Given the description of an element on the screen output the (x, y) to click on. 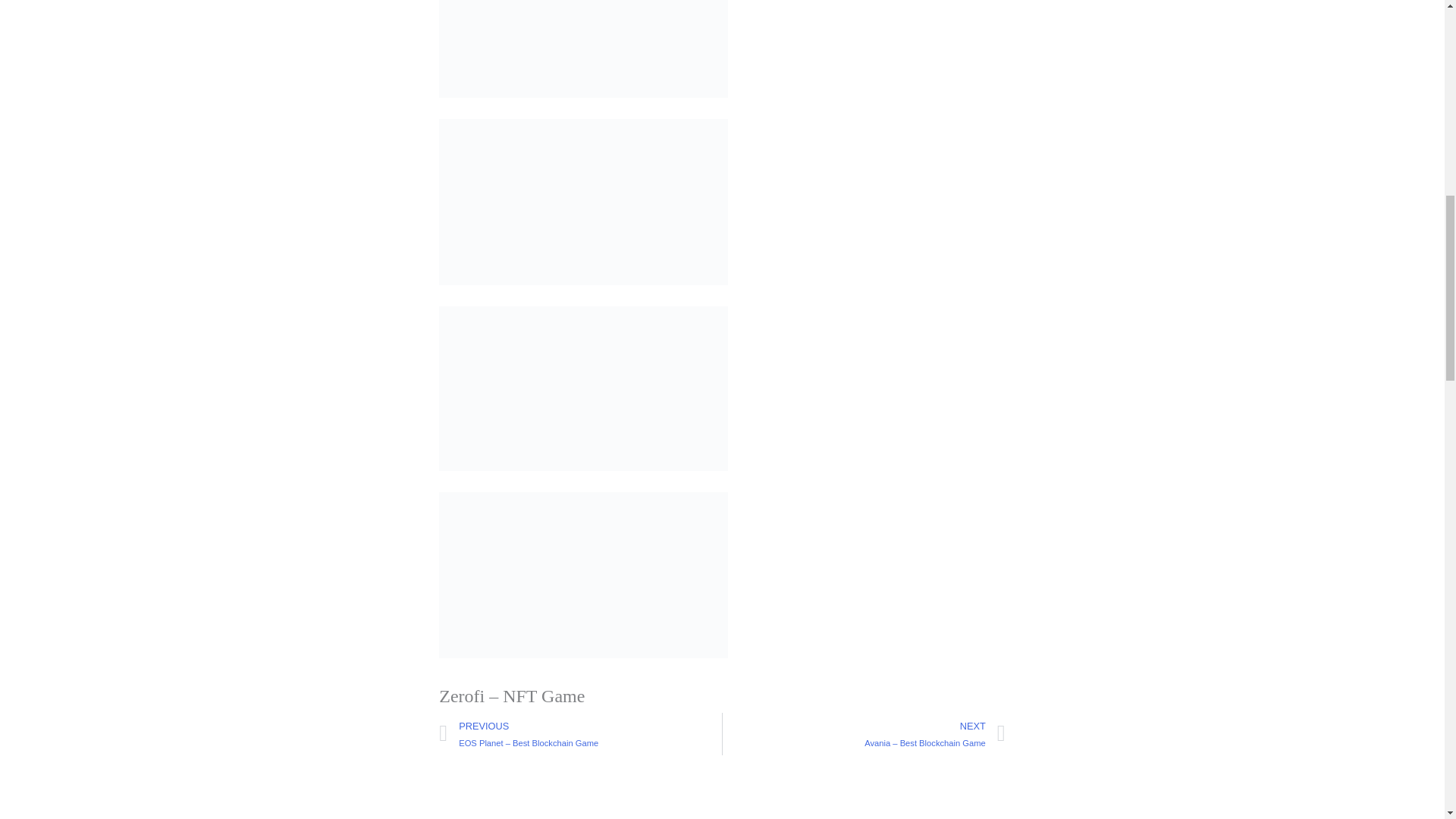
Zerofi - NFT Game (583, 575)
Zerofi - NFT Game (583, 48)
Zerofi - NFT Game (583, 201)
Zerofi - NFT Game (583, 388)
